Given the description of an element on the screen output the (x, y) to click on. 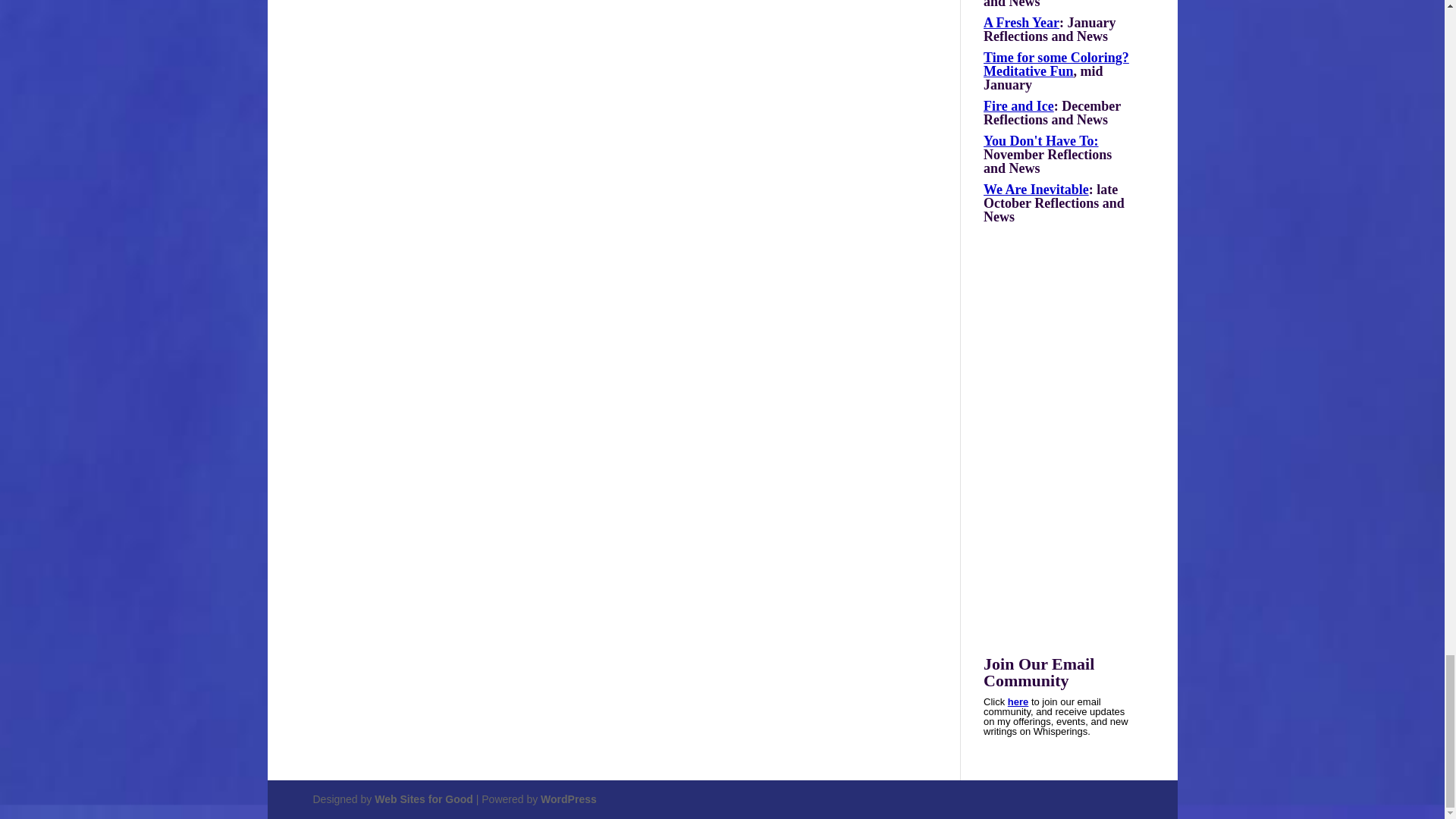
Subscribe (1017, 701)
